Given the description of an element on the screen output the (x, y) to click on. 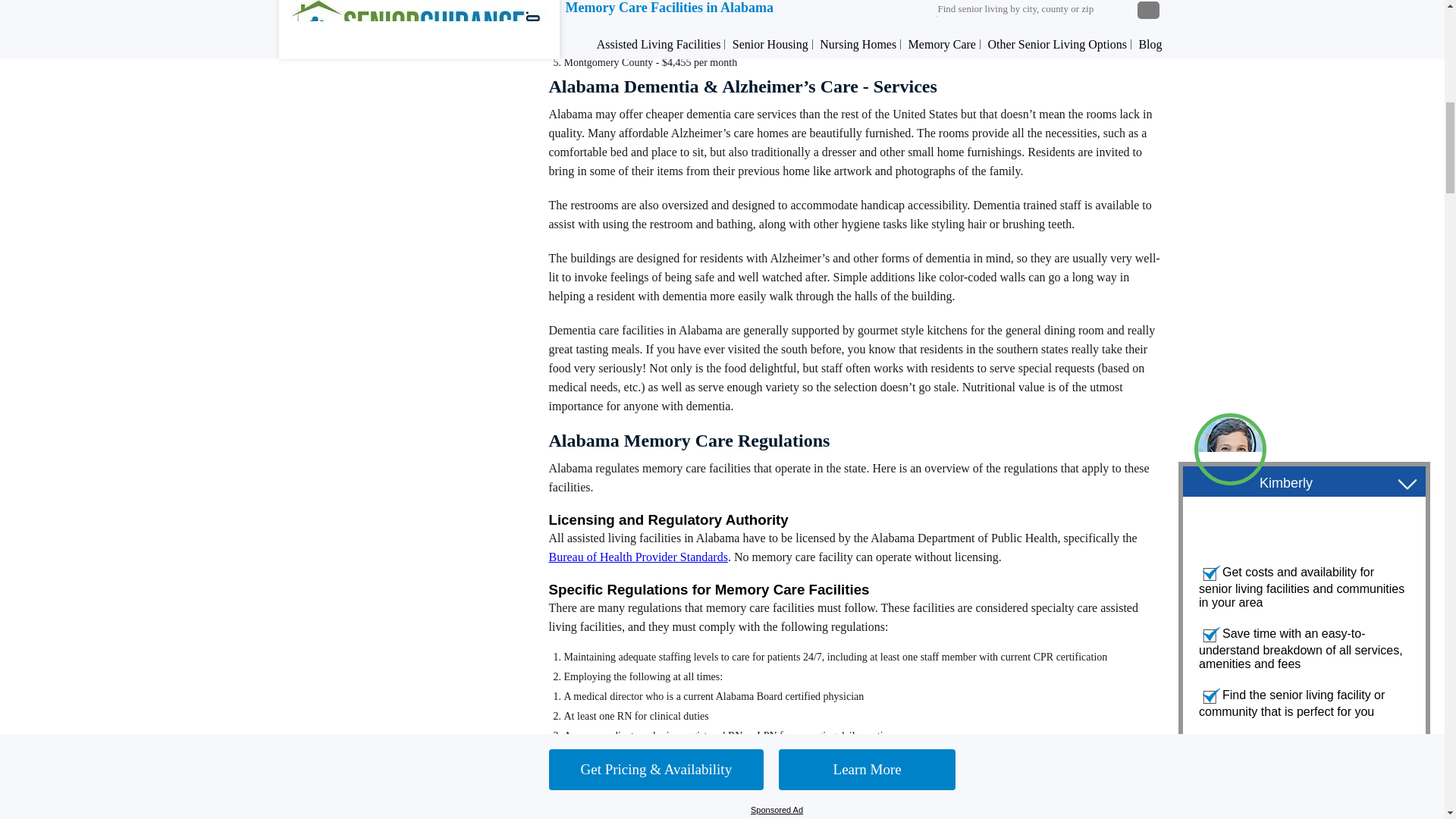
dementia training (638, 755)
Bureau of Health Provider Standards (638, 556)
